Given the description of an element on the screen output the (x, y) to click on. 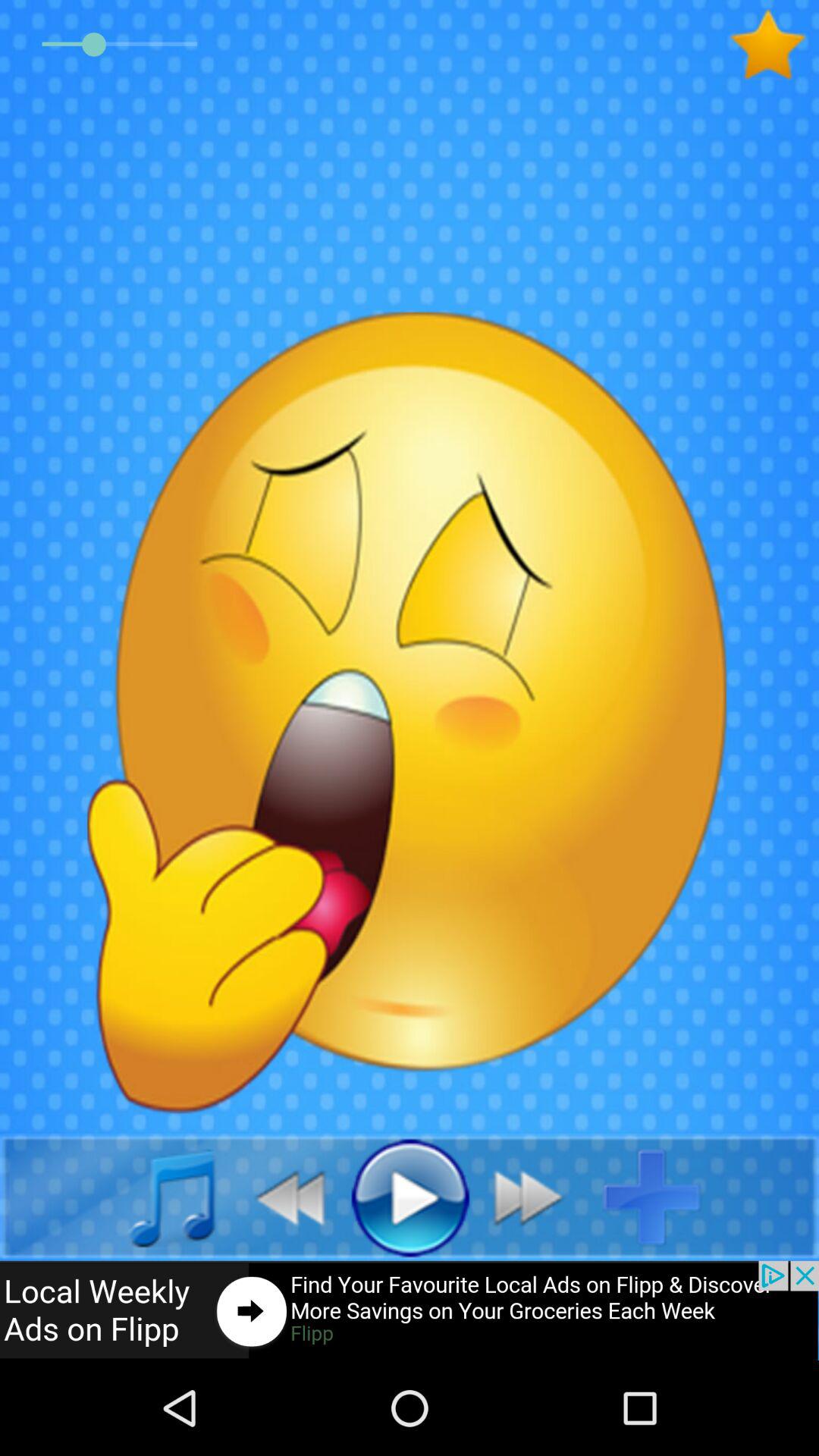
click music (154, 1196)
